Given the description of an element on the screen output the (x, y) to click on. 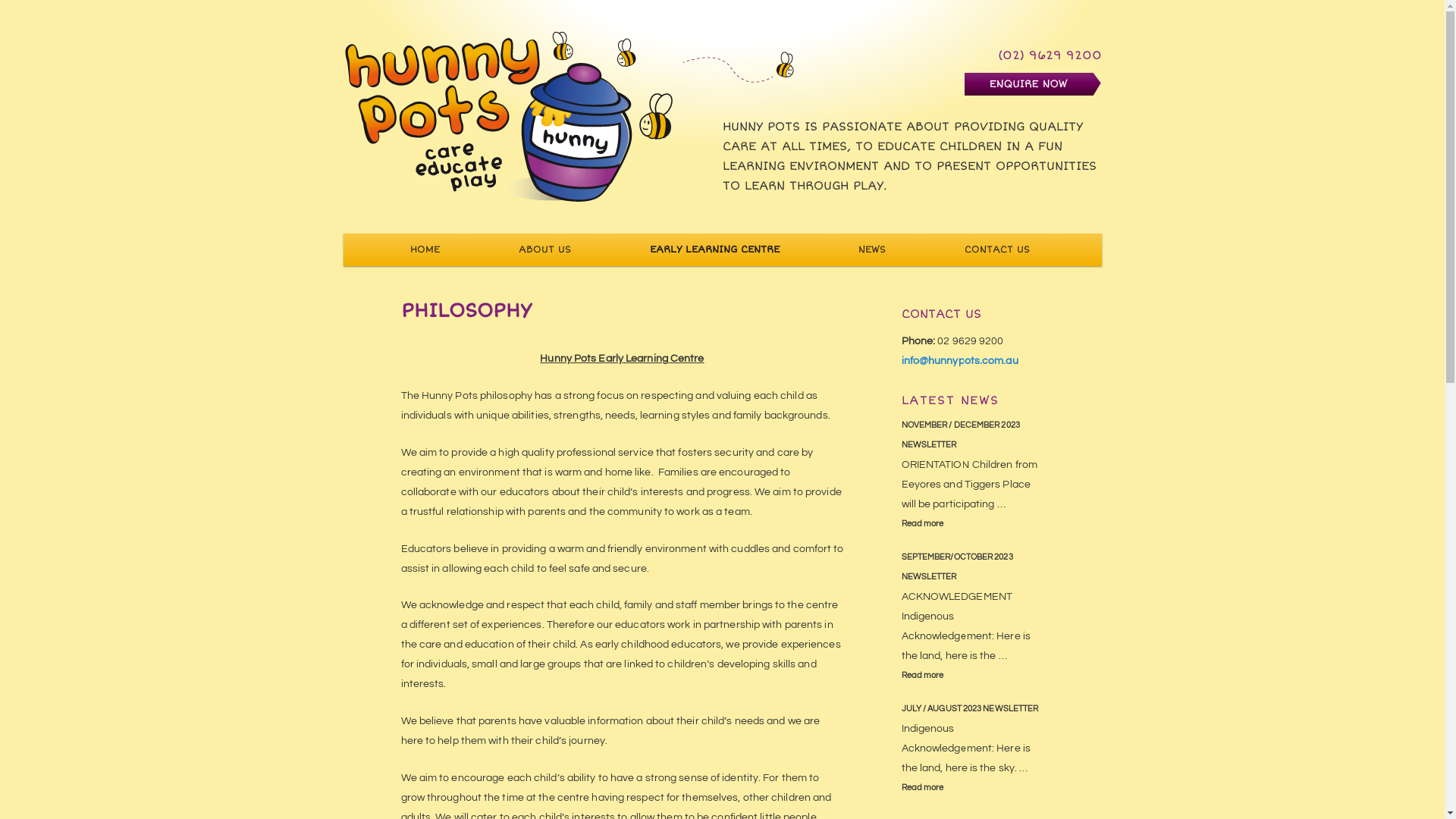
Read more Element type: text (971, 523)
CONTACT US Element type: text (997, 249)
NEWS Element type: text (872, 249)
ABOUT US Element type: text (544, 249)
EARLY LEARNING CENTRE Element type: text (714, 249)
Skip to primary content Element type: text (403, 233)
HOME Element type: text (424, 249)
JULY / AUGUST 2023 NEWSLETTER Element type: text (971, 708)
Read more Element type: text (971, 675)
info@hunnypots.com.au Element type: text (958, 360)
NOVEMBER / DECEMBER 2023 NEWSLETTER Element type: text (971, 435)
SEPTEMBER/OCTOBER 2023 NEWSLETTER Element type: text (971, 566)
Read more Element type: text (971, 787)
